Given the description of an element on the screen output the (x, y) to click on. 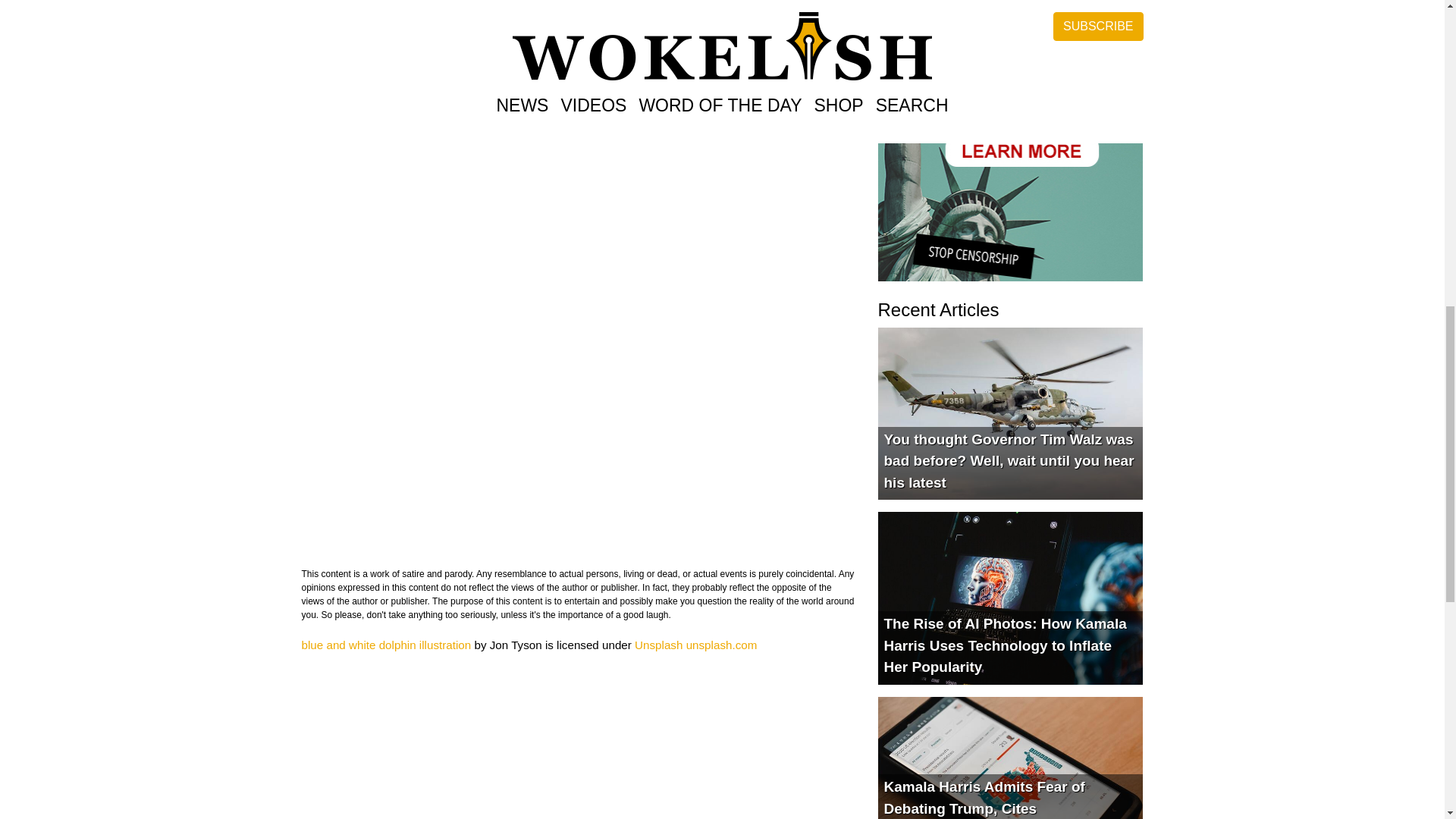
blue and white dolphin illustration (386, 644)
Unsplash unsplash.com (695, 644)
SUBSCRIBE (1009, 12)
